Given the description of an element on the screen output the (x, y) to click on. 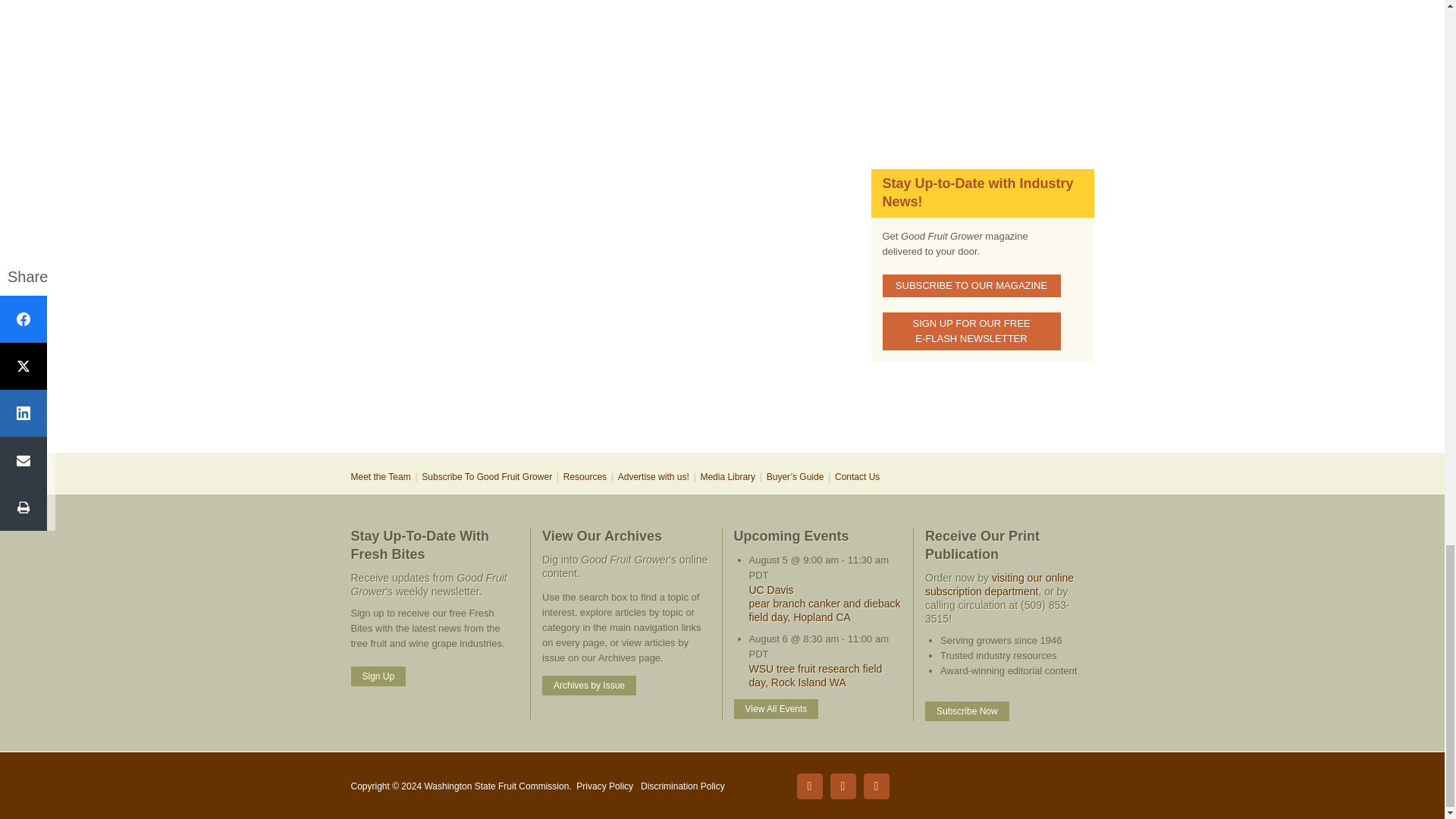
LinkedIn (842, 786)
YouTube (875, 786)
Facebook (809, 786)
